Given the description of an element on the screen output the (x, y) to click on. 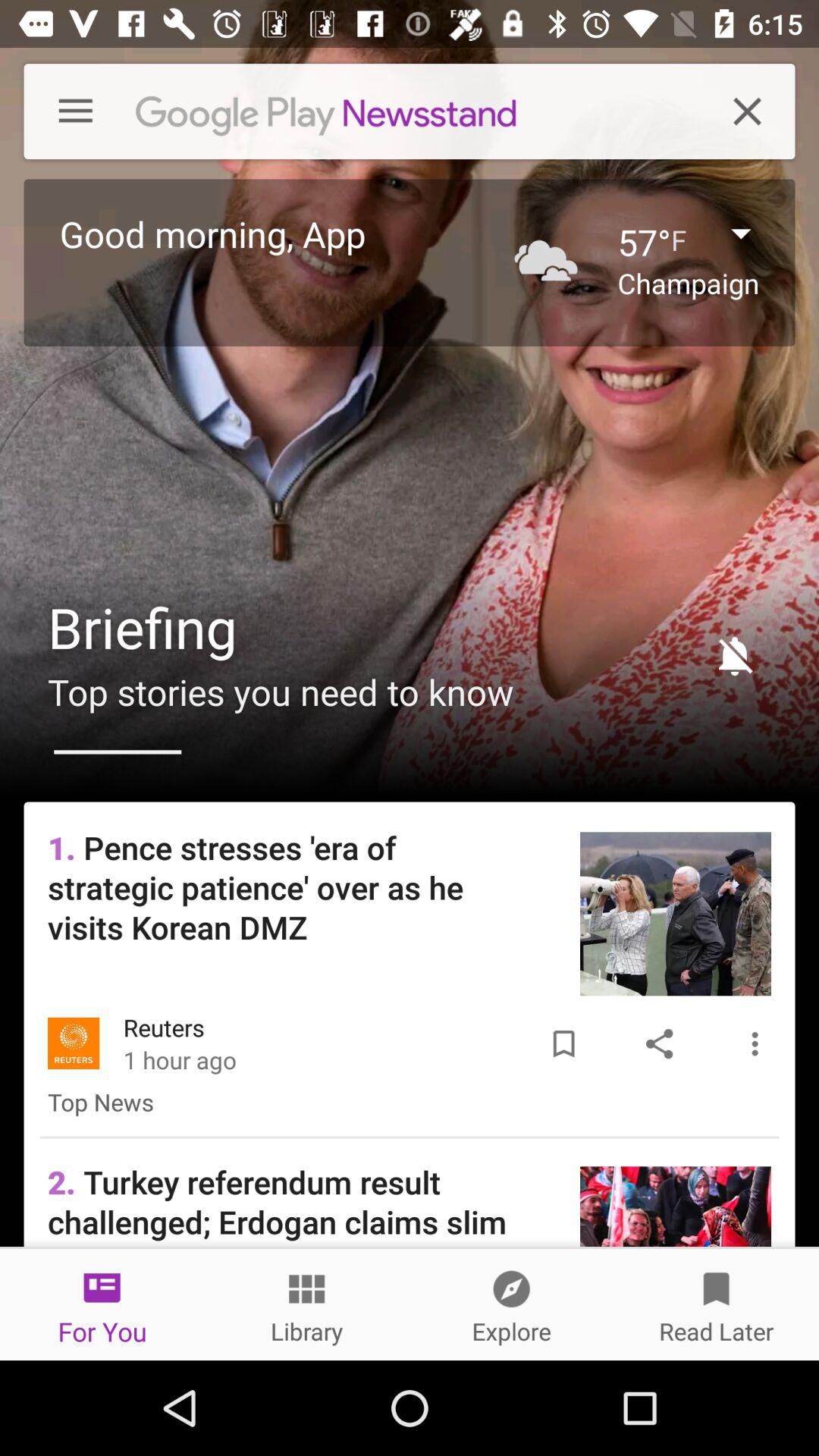
launch the icon above 2 turkey referendum icon (563, 1043)
